Given the description of an element on the screen output the (x, y) to click on. 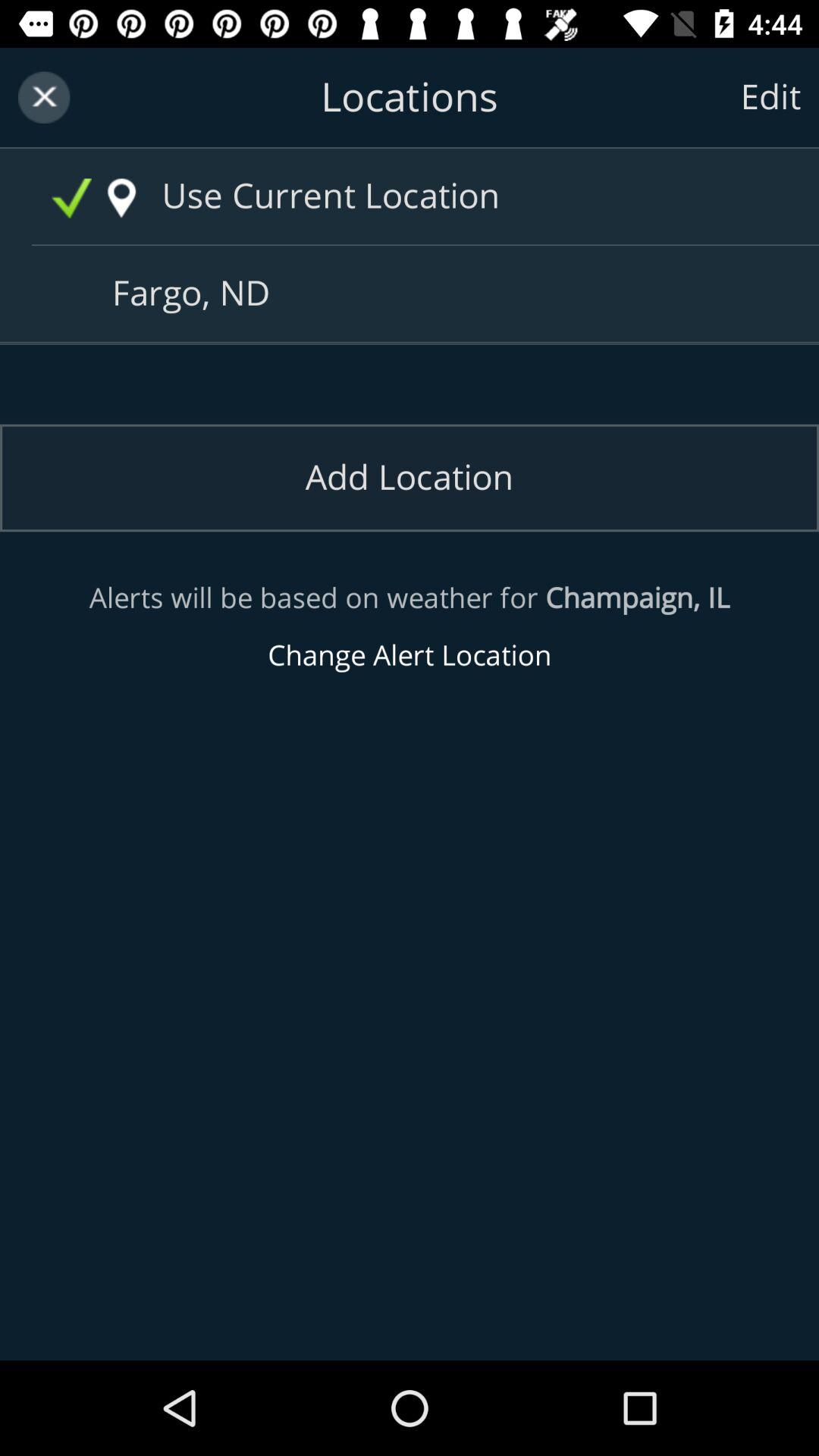
choose the text above add location (415, 294)
